Given the description of an element on the screen output the (x, y) to click on. 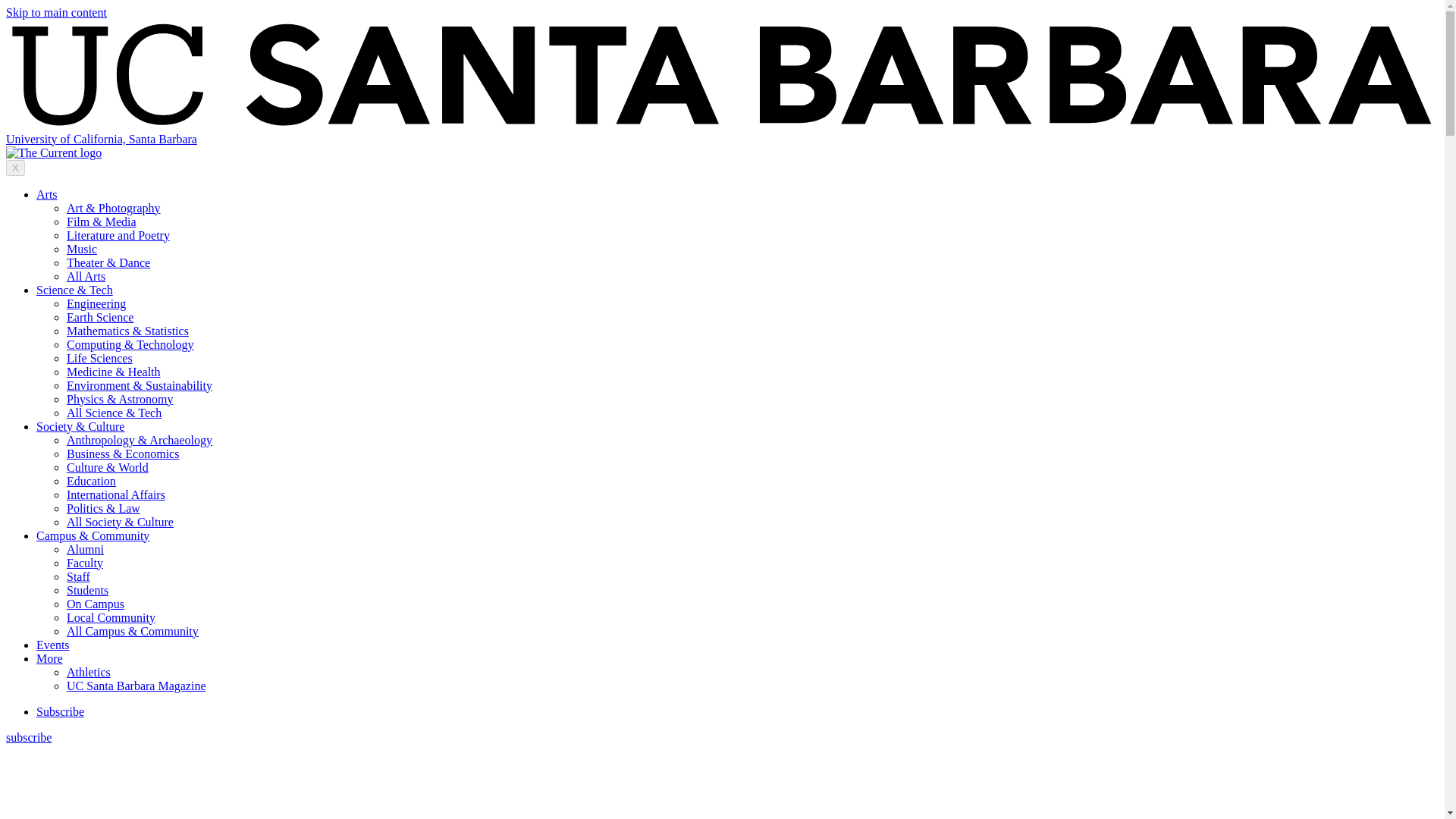
X (14, 167)
Students (86, 590)
University of California, Santa Barbara (100, 138)
Education (91, 481)
Engineering (95, 303)
Earth Science (99, 317)
Literature and Poetry (118, 235)
Events (52, 644)
Staff (78, 576)
Skip to main content (55, 11)
Alumni (84, 549)
All Arts (85, 276)
Faculty (84, 562)
Arts (47, 194)
International Affairs (115, 494)
